Given the description of an element on the screen output the (x, y) to click on. 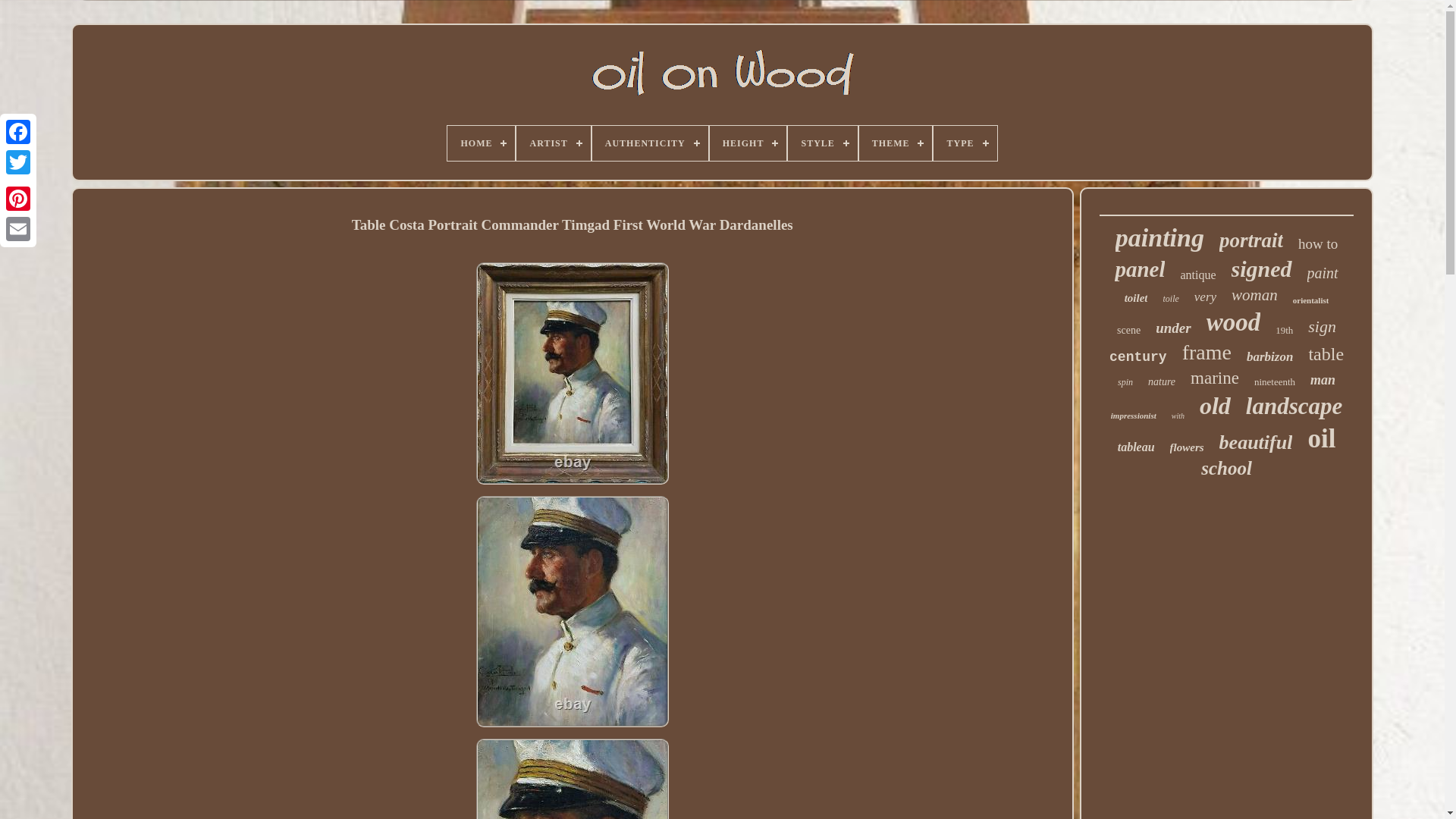
STYLE (822, 143)
ARTIST (552, 143)
HOME (480, 143)
HEIGHT (748, 143)
AUTHENTICITY (649, 143)
